Given the description of an element on the screen output the (x, y) to click on. 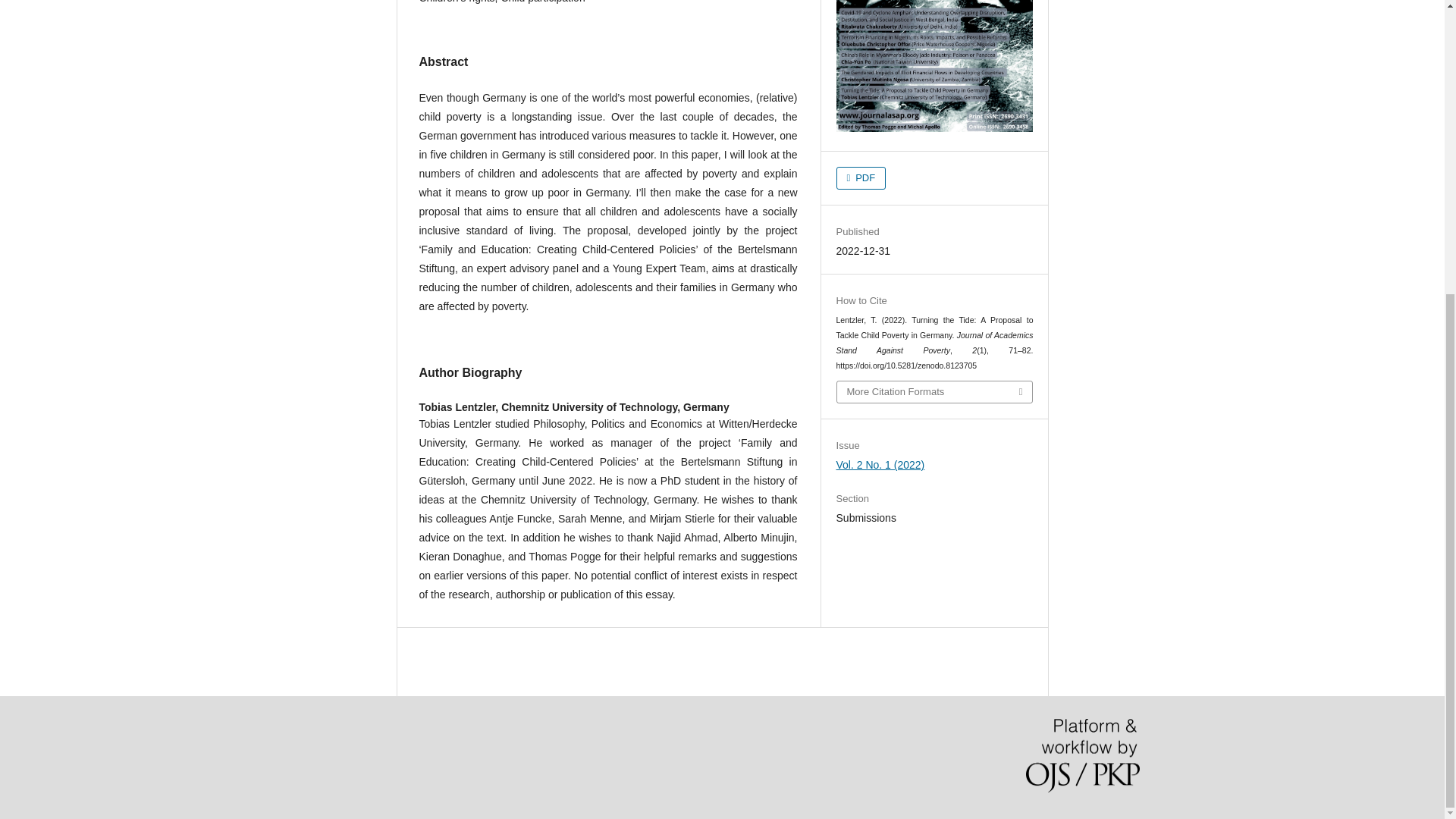
PDF (860, 178)
